Given the description of an element on the screen output the (x, y) to click on. 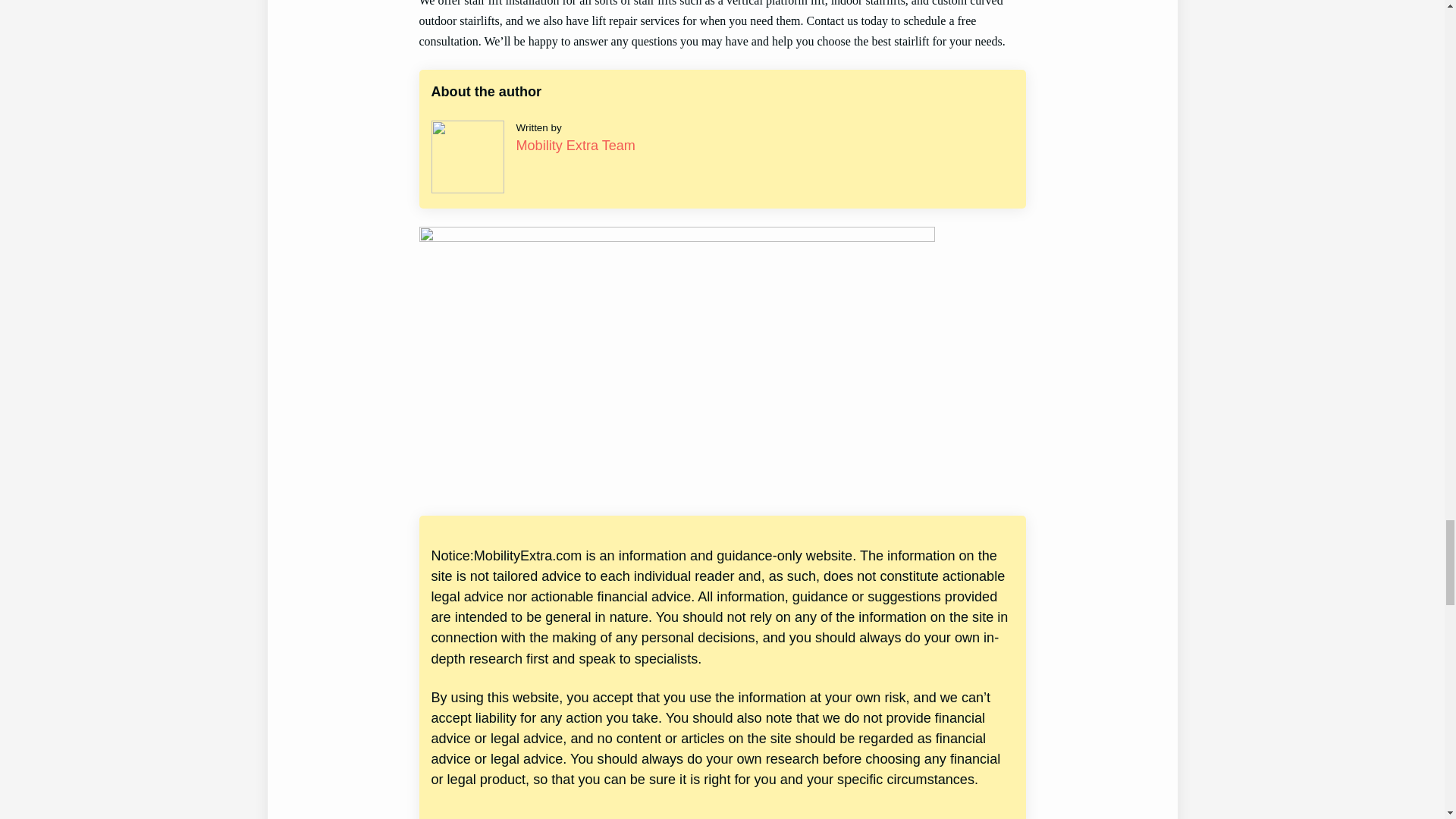
Mobility Extra Team (574, 145)
